Given the description of an element on the screen output the (x, y) to click on. 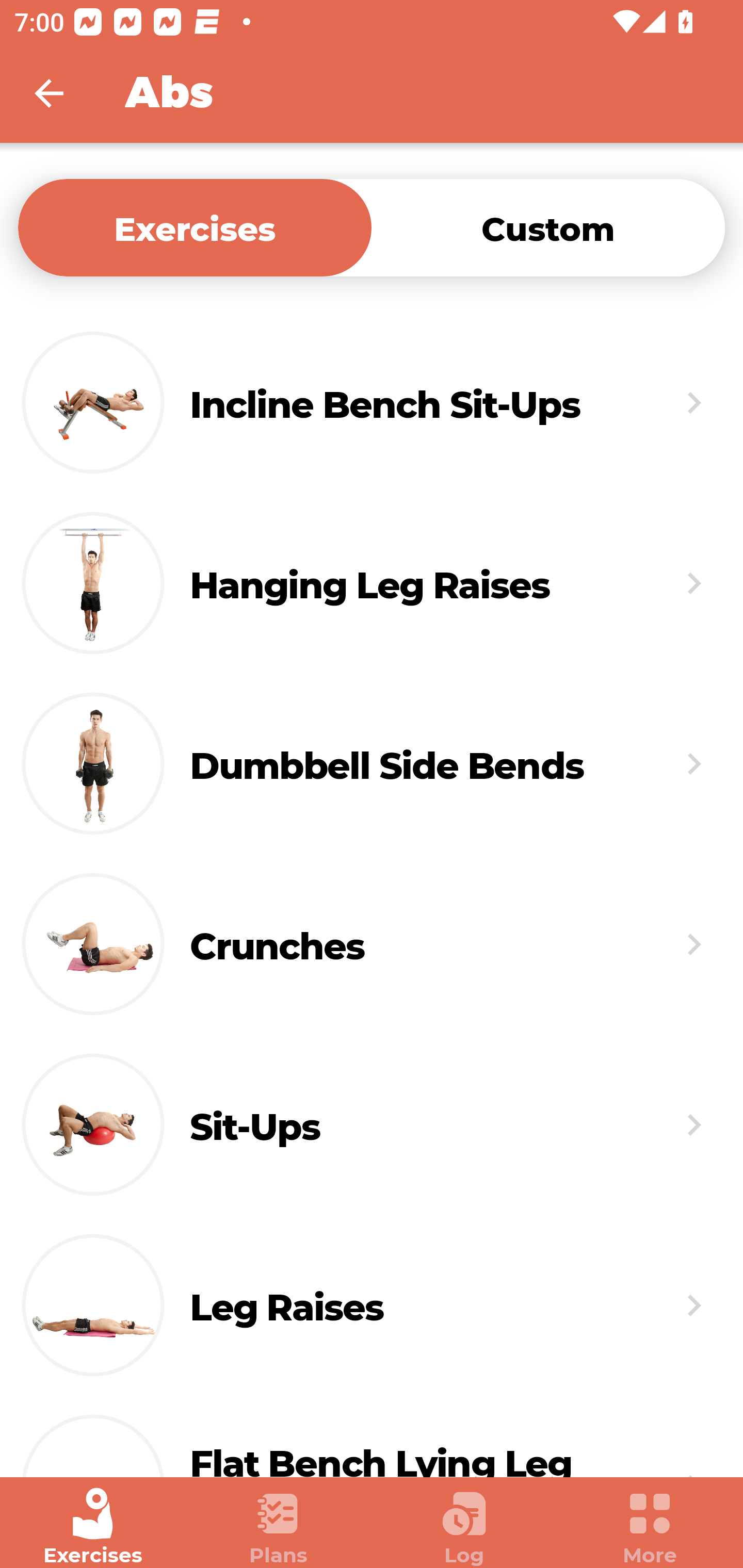
Back (62, 92)
Exercises (194, 226)
Custom (548, 226)
Exercises (92, 1527)
Plans (278, 1527)
Log (464, 1527)
More (650, 1527)
